Given the description of an element on the screen output the (x, y) to click on. 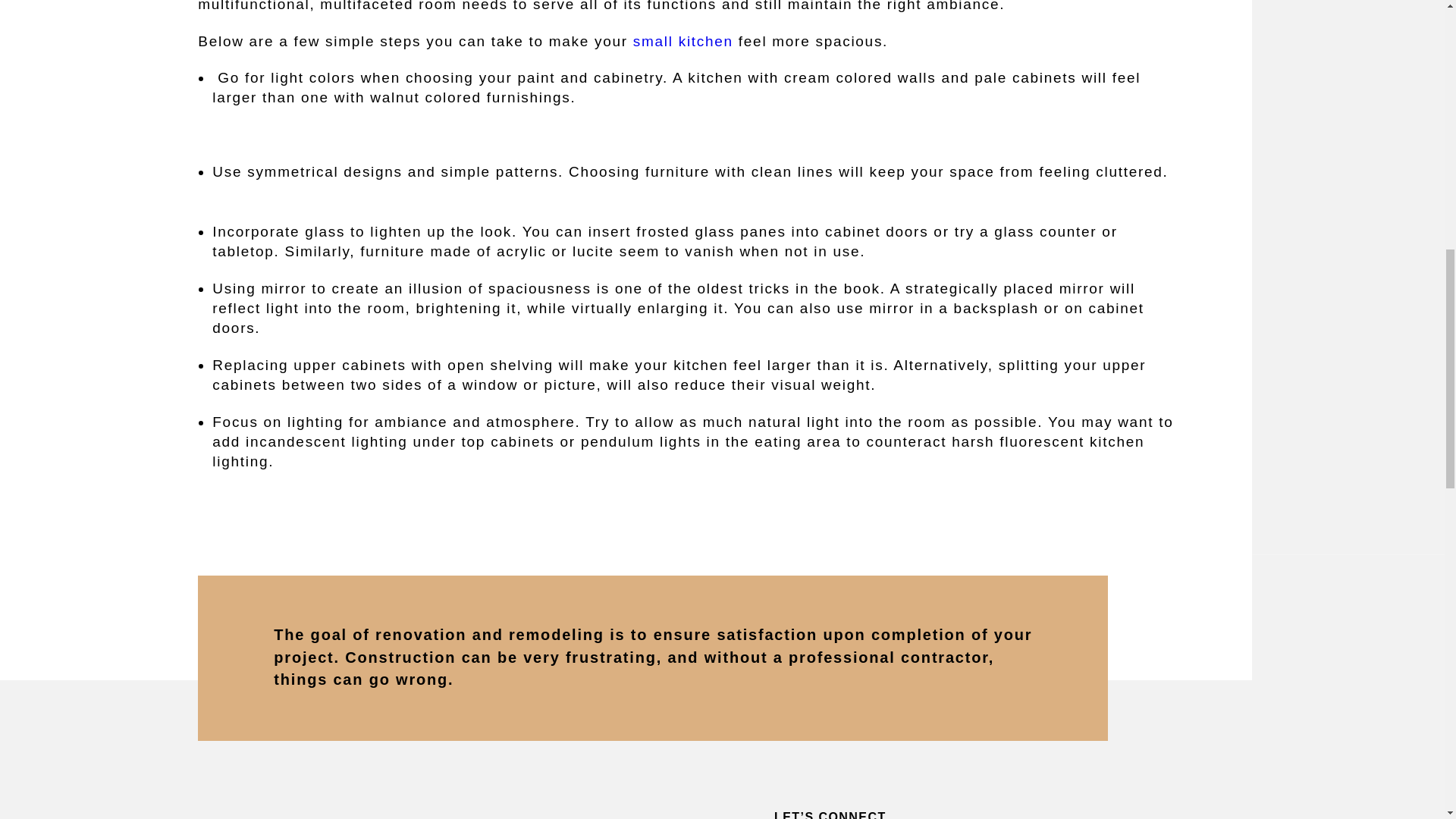
Follow on Facebook (1020, 812)
Follow on X (1054, 812)
Follow on Instagram (980, 812)
Follow on Youtube (1095, 812)
Follow on Pinterest (946, 812)
